Given the description of an element on the screen output the (x, y) to click on. 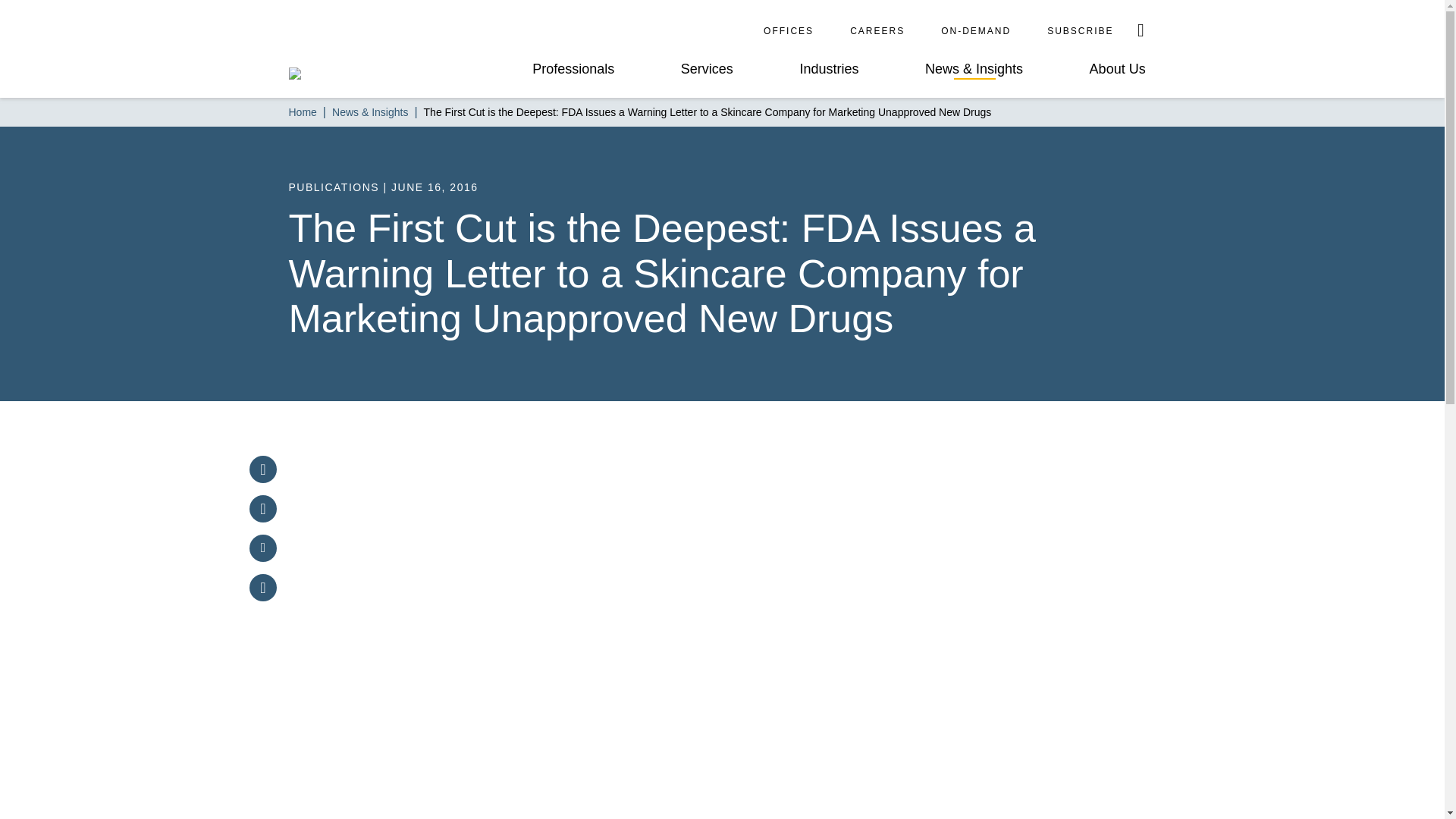
Professionals (573, 68)
Industries (829, 68)
SUBSCRIBE (1079, 30)
Services (707, 68)
CAREERS (877, 30)
About Us (1117, 68)
ON-DEMAND (975, 30)
OFFICES (787, 30)
Home (301, 111)
